Given the description of an element on the screen output the (x, y) to click on. 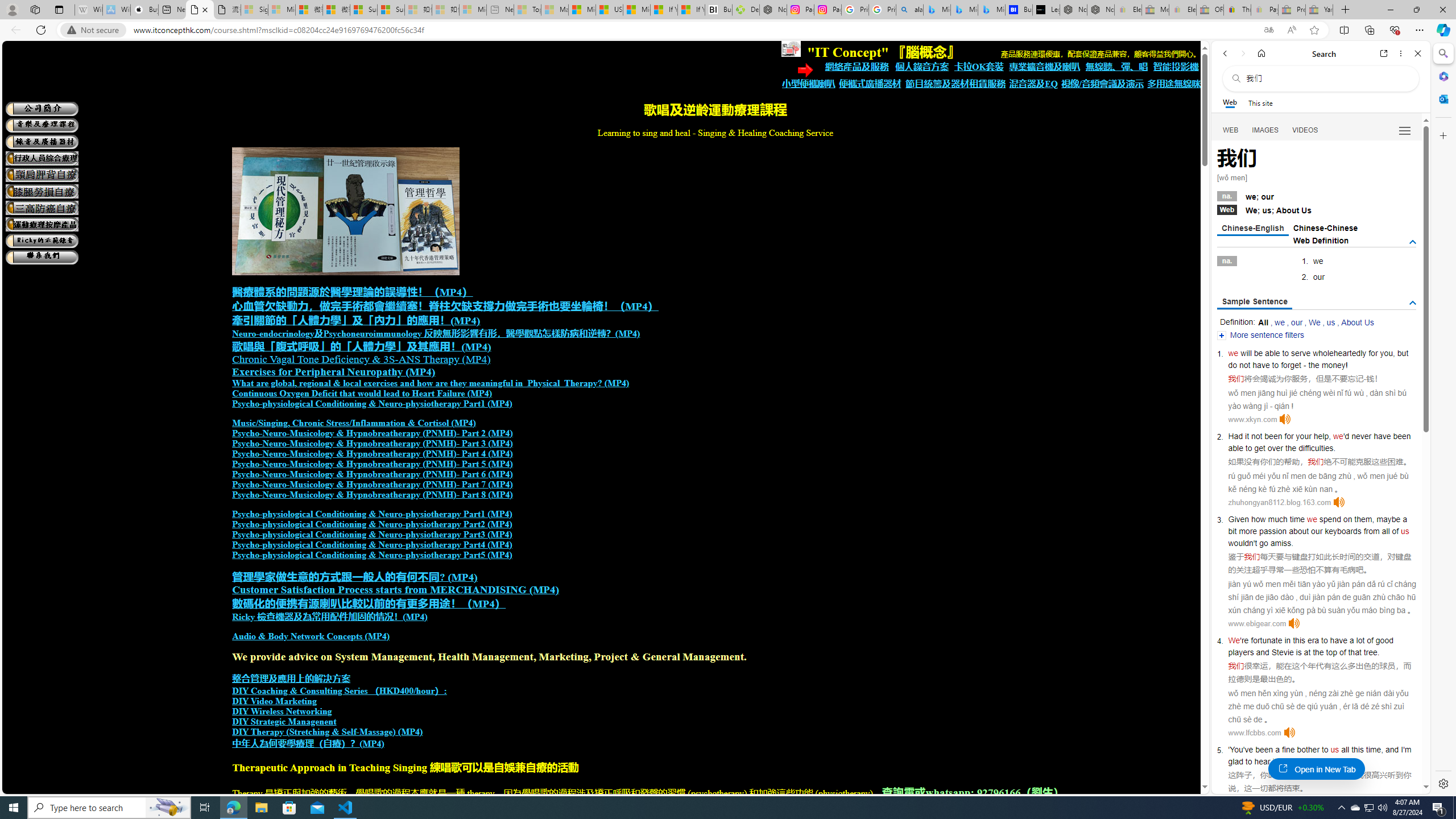
We (1233, 640)
stop (1322, 760)
not (1256, 435)
About Us (1357, 322)
Marine life - MSN - Sleeping (554, 9)
I (1401, 749)
we (1312, 519)
help (1321, 435)
Search Filter, WEB (1231, 129)
